Given the description of an element on the screen output the (x, y) to click on. 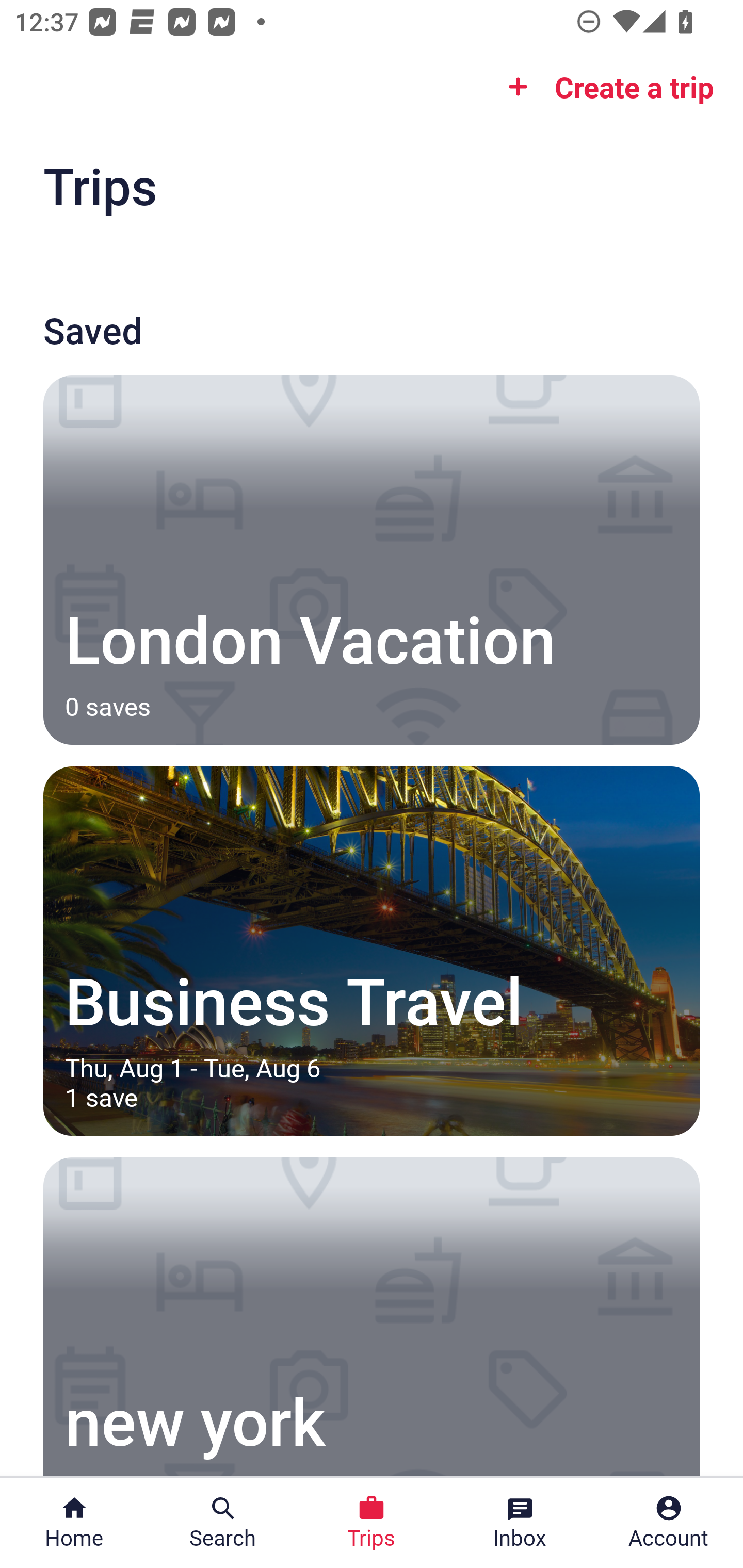
Create a trip Create a trip Button (605, 86)
new york. 0 saves.  Button new york 0 saves (371, 1316)
Home Home Button (74, 1522)
Search Search Button (222, 1522)
Inbox Inbox Button (519, 1522)
Account Profile. Button (668, 1522)
